Given the description of an element on the screen output the (x, y) to click on. 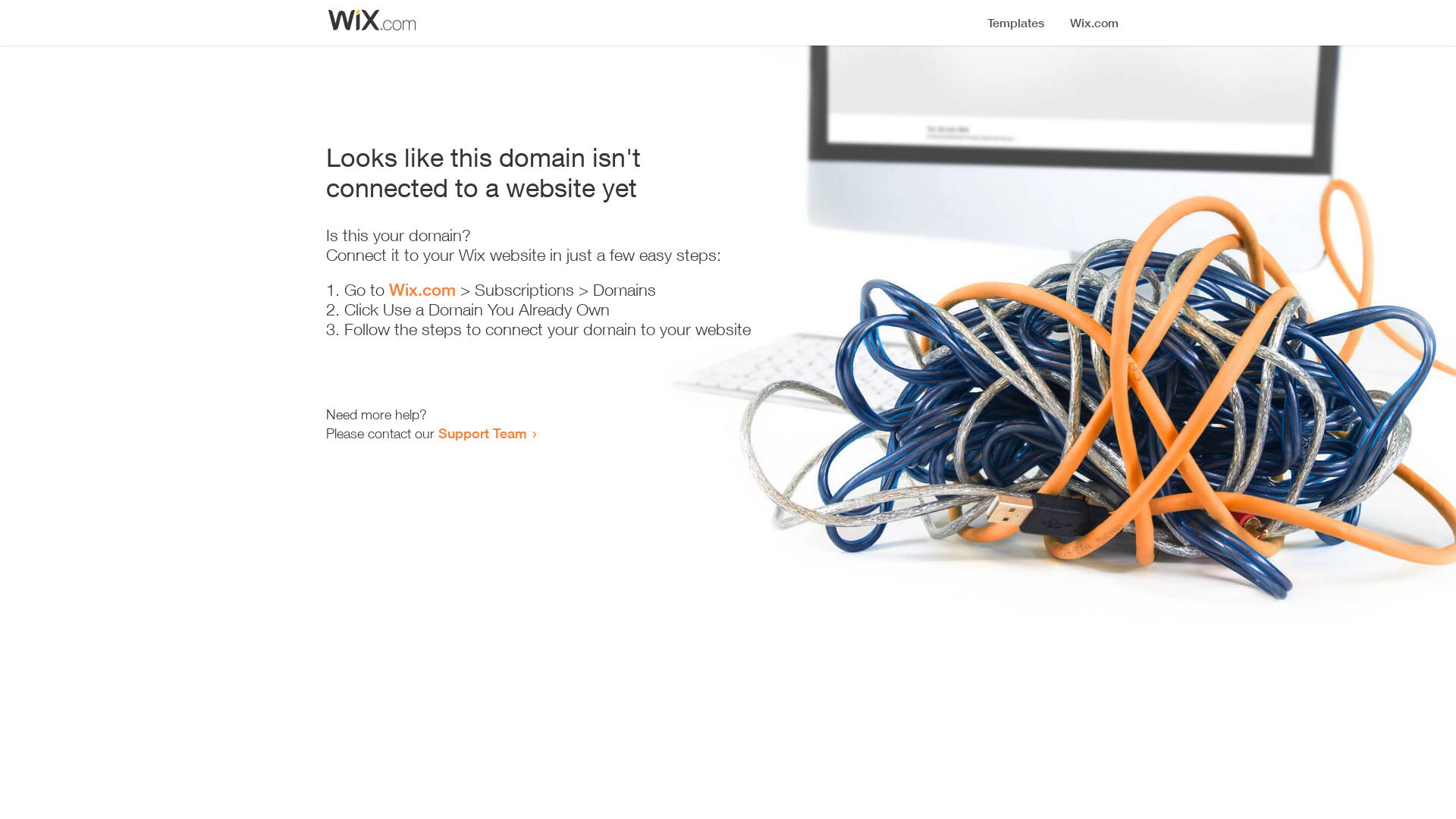
Support Team Element type: text (482, 432)
Wix.com Element type: text (422, 289)
